Given the description of an element on the screen output the (x, y) to click on. 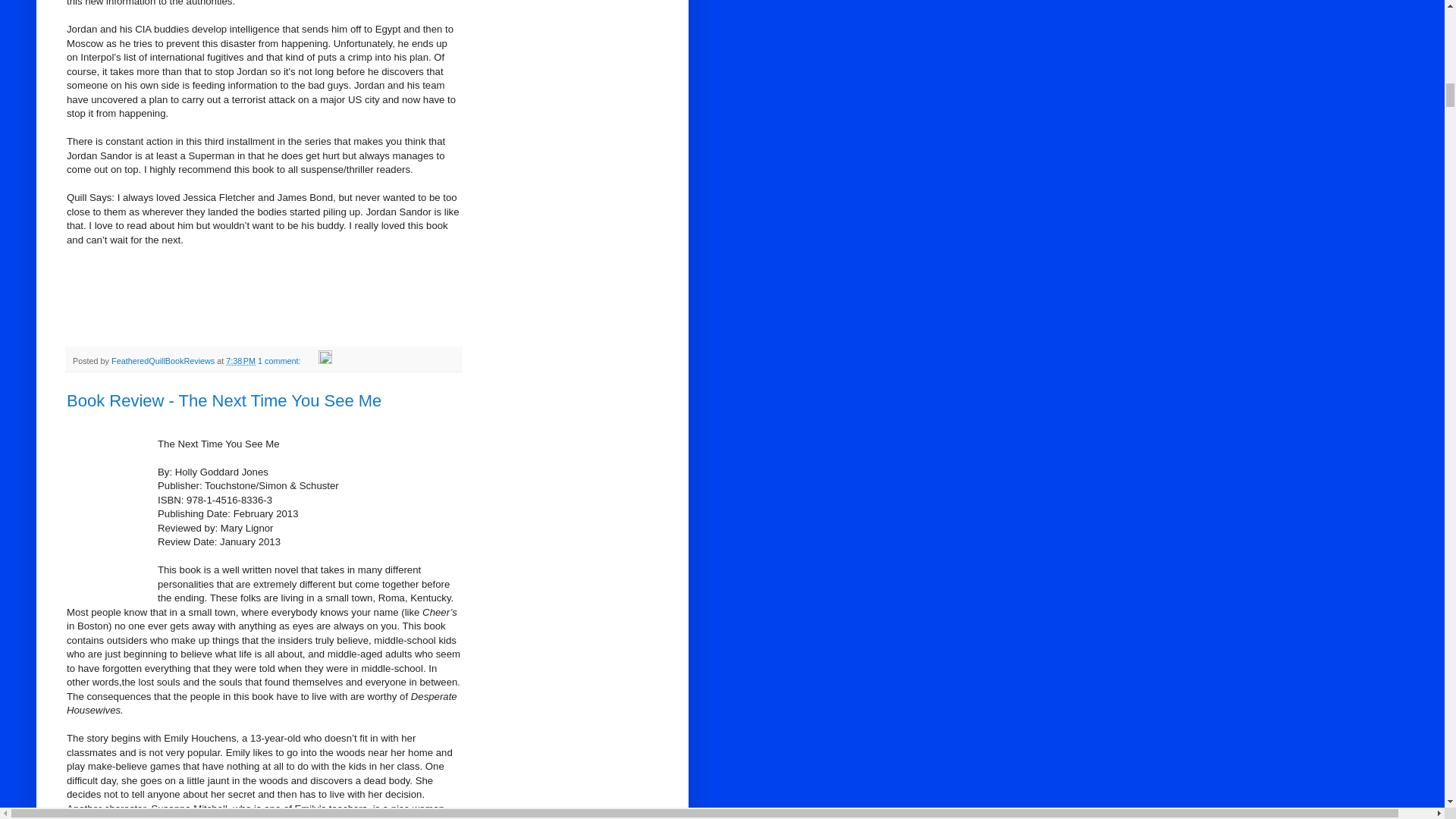
Book Review - The Next Time You See Me (223, 400)
permanent link (240, 360)
Edit Post (324, 360)
1 comment: (279, 360)
FeatheredQuillBookReviews (164, 360)
Email Post (310, 360)
author profile (164, 360)
